Given the description of an element on the screen output the (x, y) to click on. 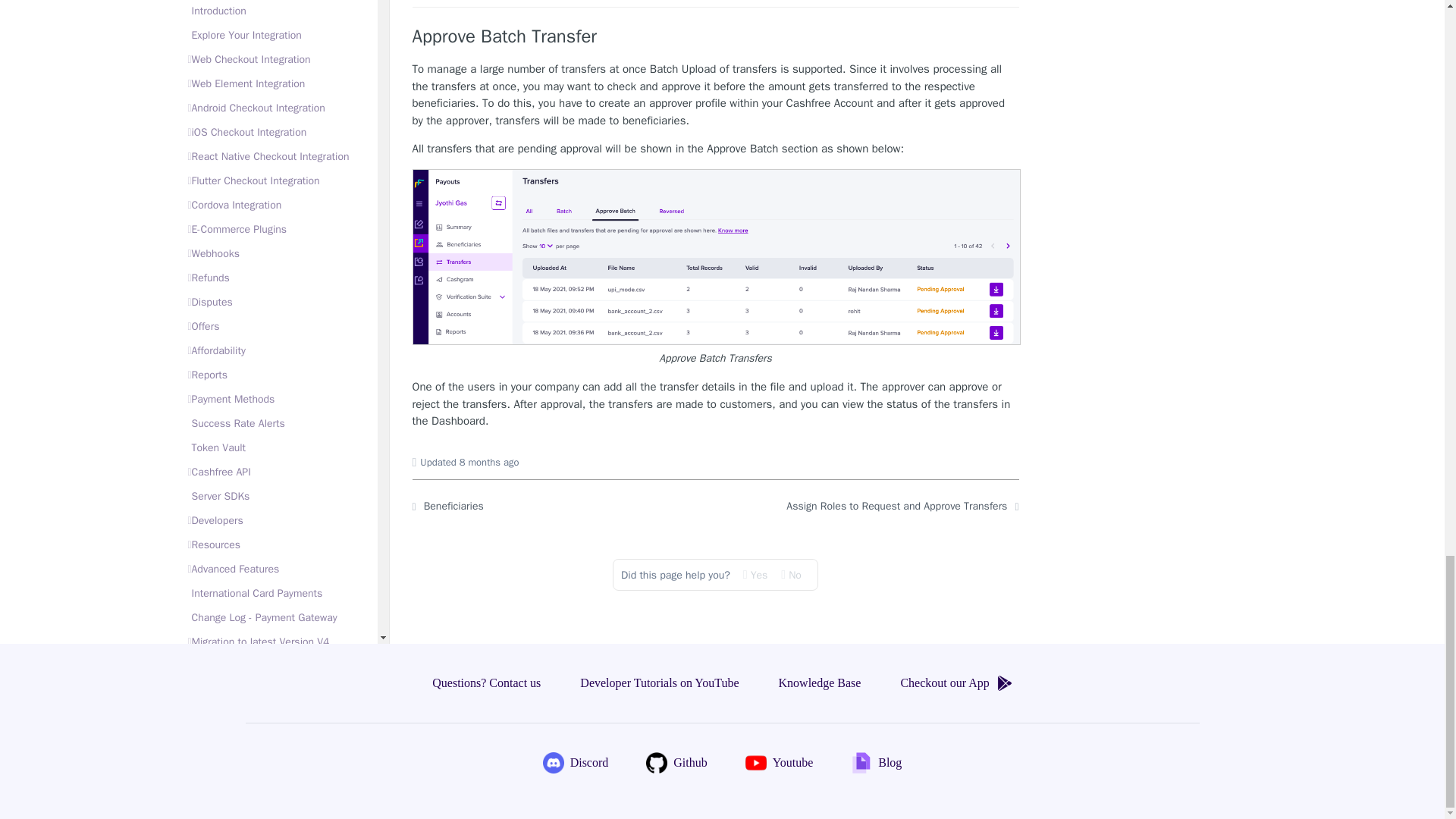
Approve Batch Transfer (715, 36)
